Given the description of an element on the screen output the (x, y) to click on. 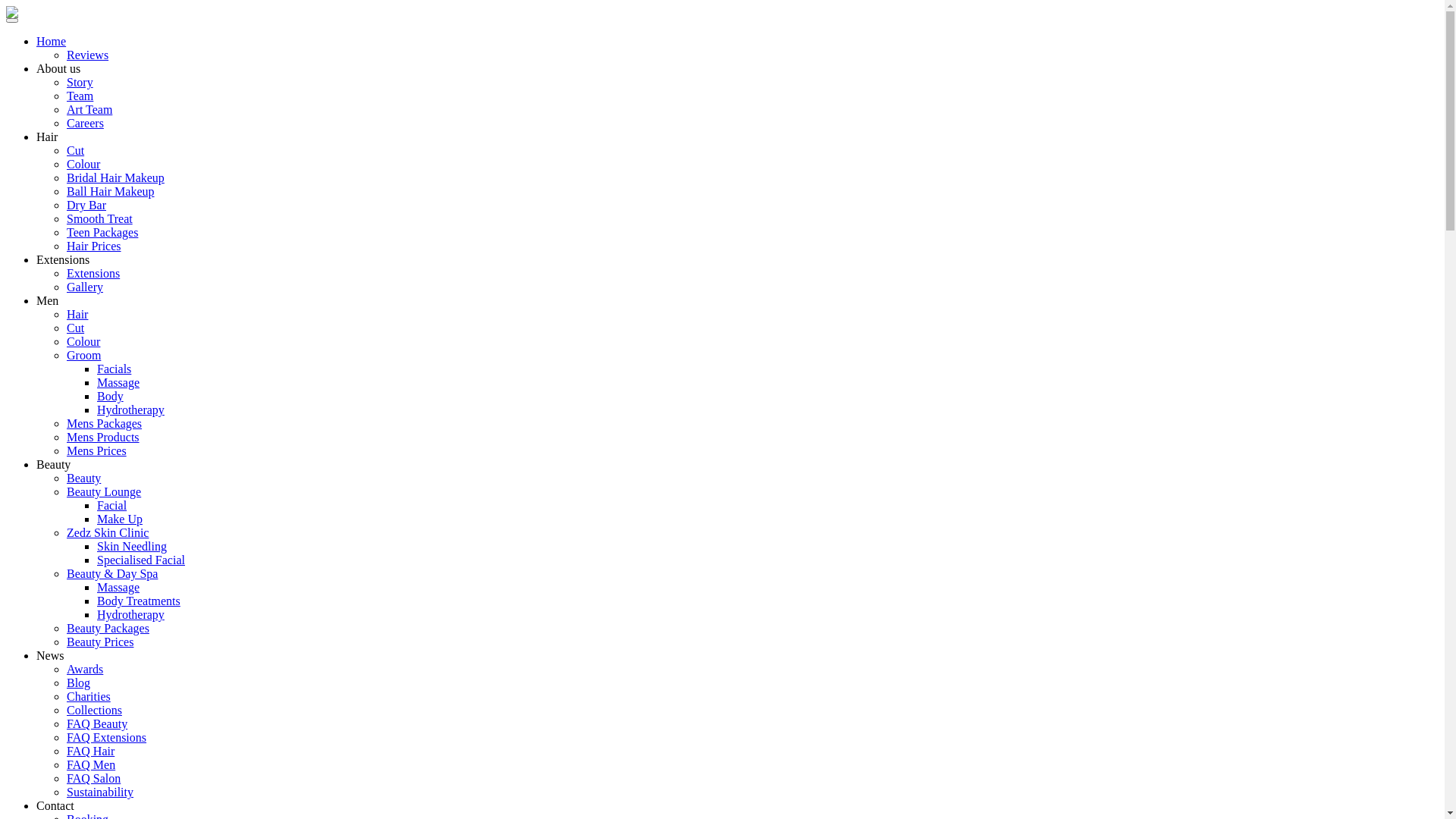
Extensions Element type: text (62, 259)
FAQ Salon Element type: text (93, 777)
Beauty & Day Spa Element type: text (111, 573)
Hydrotherapy Element type: text (130, 614)
FAQ Hair Element type: text (90, 750)
Mens Prices Element type: text (96, 450)
FAQ Men Element type: text (90, 764)
Contact Element type: text (55, 805)
Hydrotherapy Element type: text (130, 409)
Dry Bar Element type: text (86, 204)
News Element type: text (49, 655)
Body Element type: text (110, 395)
Make Up Element type: text (119, 518)
Beauty Lounge Element type: text (103, 491)
Hair Element type: text (46, 136)
Beauty Packages Element type: text (107, 627)
Teen Packages Element type: text (102, 231)
Beauty Element type: text (53, 464)
Specialised Facial Element type: text (141, 559)
Mens Packages Element type: text (103, 423)
Home Element type: text (50, 40)
FAQ Extensions Element type: text (106, 737)
Colour Element type: text (83, 341)
Bridal Hair Makeup Element type: text (115, 177)
Massage Element type: text (118, 382)
Team Element type: text (79, 95)
FAQ Beauty Element type: text (96, 723)
Gallery Element type: text (84, 286)
Groom Element type: text (83, 354)
Smooth Treat Element type: text (99, 218)
Art Team Element type: text (89, 109)
About us Element type: text (58, 68)
Cut Element type: text (75, 327)
Skin Needling Element type: text (131, 545)
Sustainability Element type: text (99, 791)
Charities Element type: text (88, 696)
Beauty Element type: text (83, 477)
Hair Prices Element type: text (93, 245)
Collections Element type: text (94, 709)
Extensions Element type: text (92, 272)
Zedz Skin Clinic Element type: text (107, 532)
Reviews Element type: text (87, 54)
Facial Element type: text (111, 504)
Awards Element type: text (84, 668)
Hair Element type: text (76, 313)
Beauty Prices Element type: text (99, 641)
Story Element type: text (79, 81)
Ball Hair Makeup Element type: text (110, 191)
Men Element type: text (47, 300)
Colour Element type: text (83, 163)
Blog Element type: text (78, 682)
Cut Element type: text (75, 150)
Facials Element type: text (114, 368)
Massage Element type: text (118, 586)
Careers Element type: text (84, 122)
Body Treatments Element type: text (138, 600)
Mens Products Element type: text (102, 436)
